Given the description of an element on the screen output the (x, y) to click on. 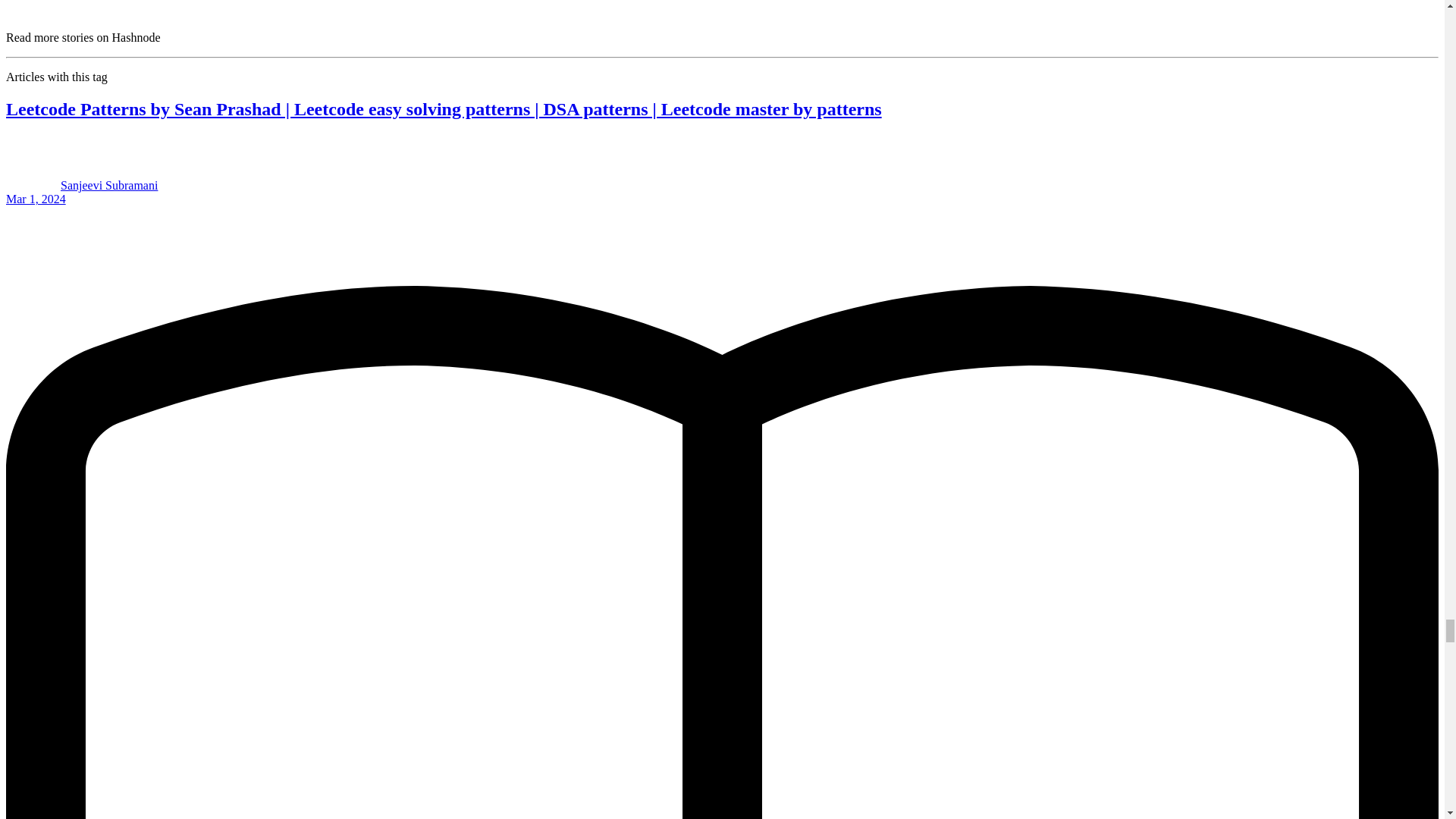
Sanjeevi Subramani (109, 185)
